Given the description of an element on the screen output the (x, y) to click on. 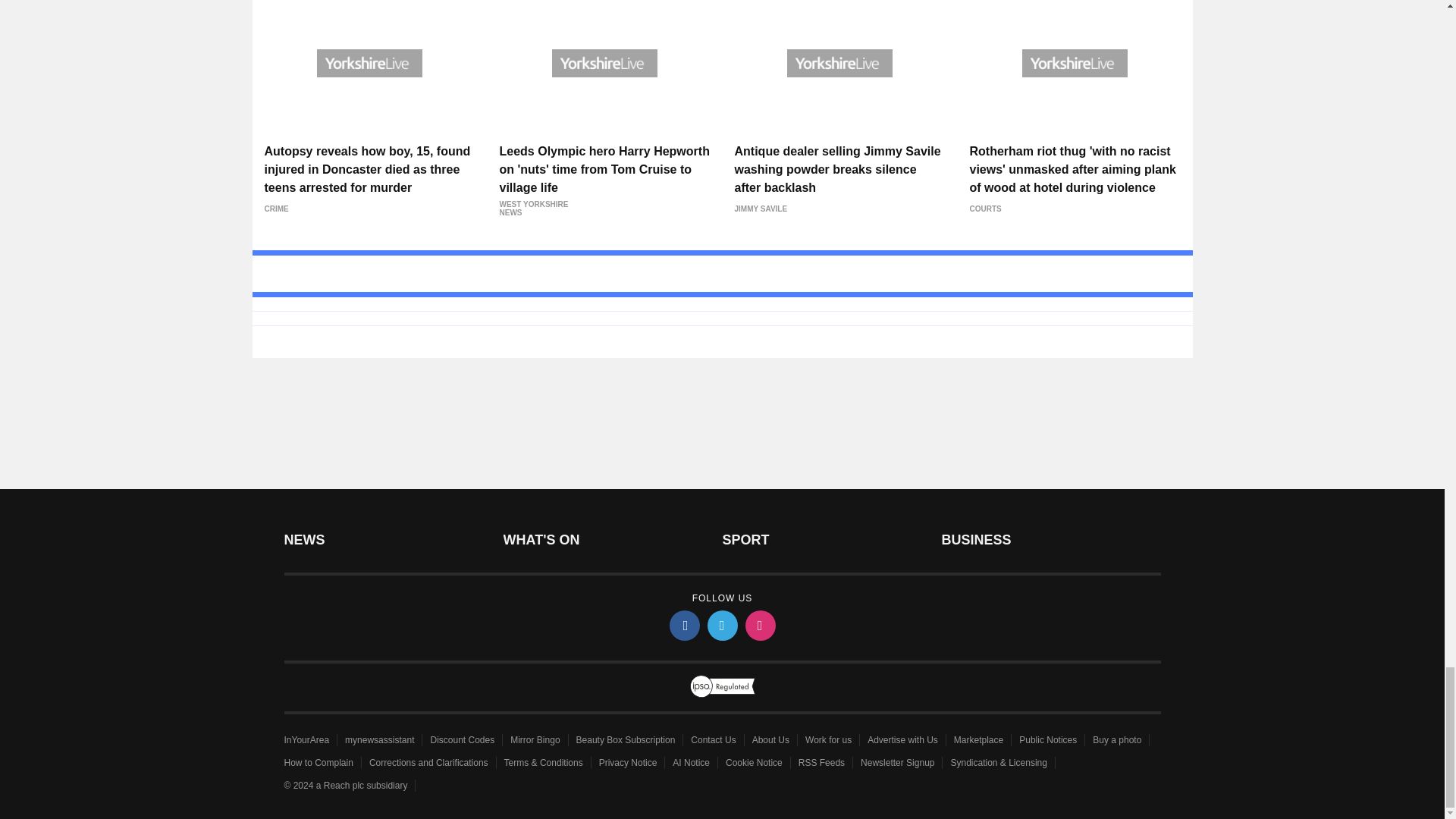
instagram (759, 625)
twitter (721, 625)
facebook (683, 625)
